Given the description of an element on the screen output the (x, y) to click on. 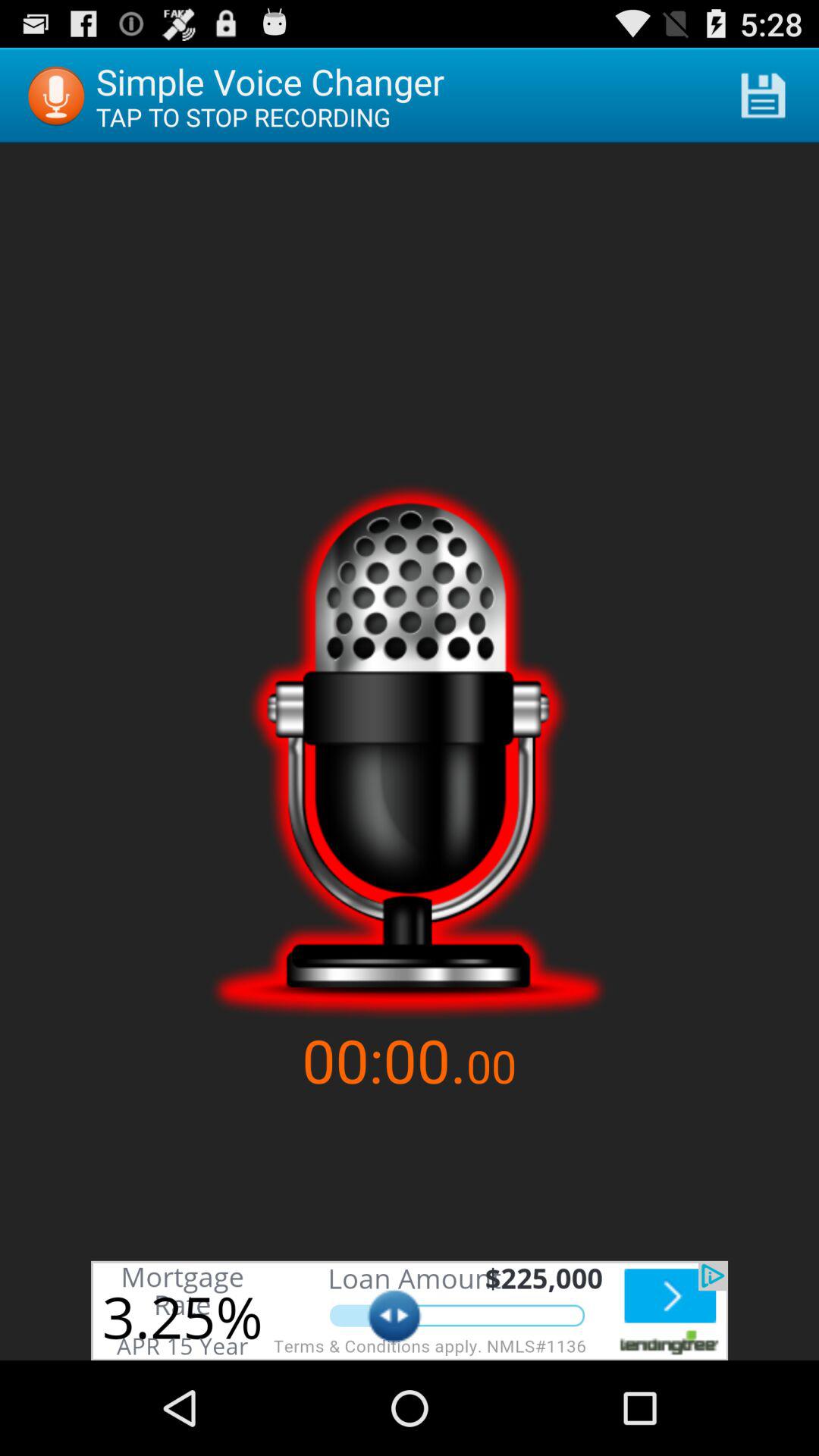
sound speaker (408, 751)
